Given the description of an element on the screen output the (x, y) to click on. 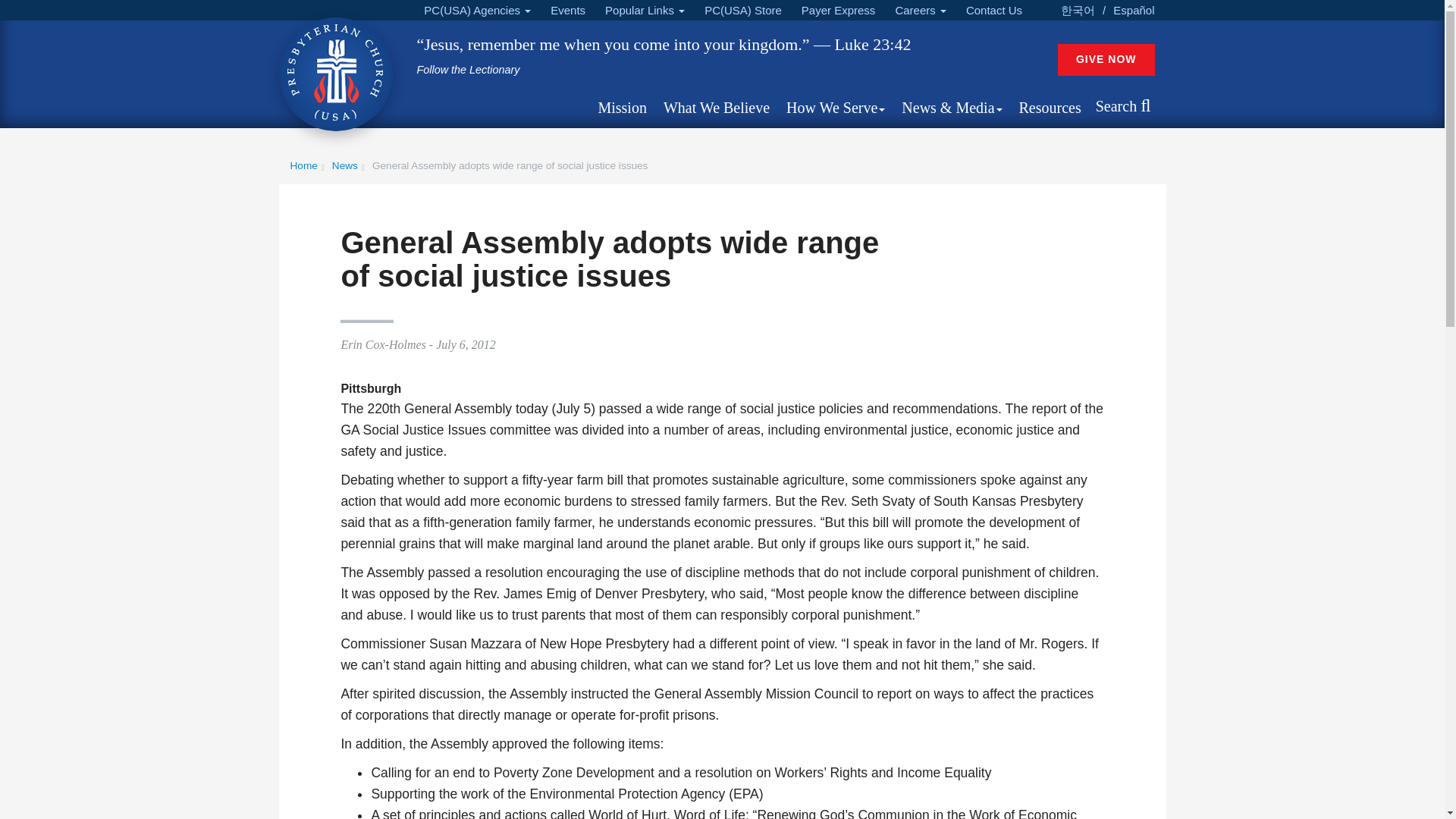
Payer Express (838, 10)
Contact Us (993, 10)
Popular Links (644, 10)
Careers (920, 10)
Events (567, 10)
